Given the description of an element on the screen output the (x, y) to click on. 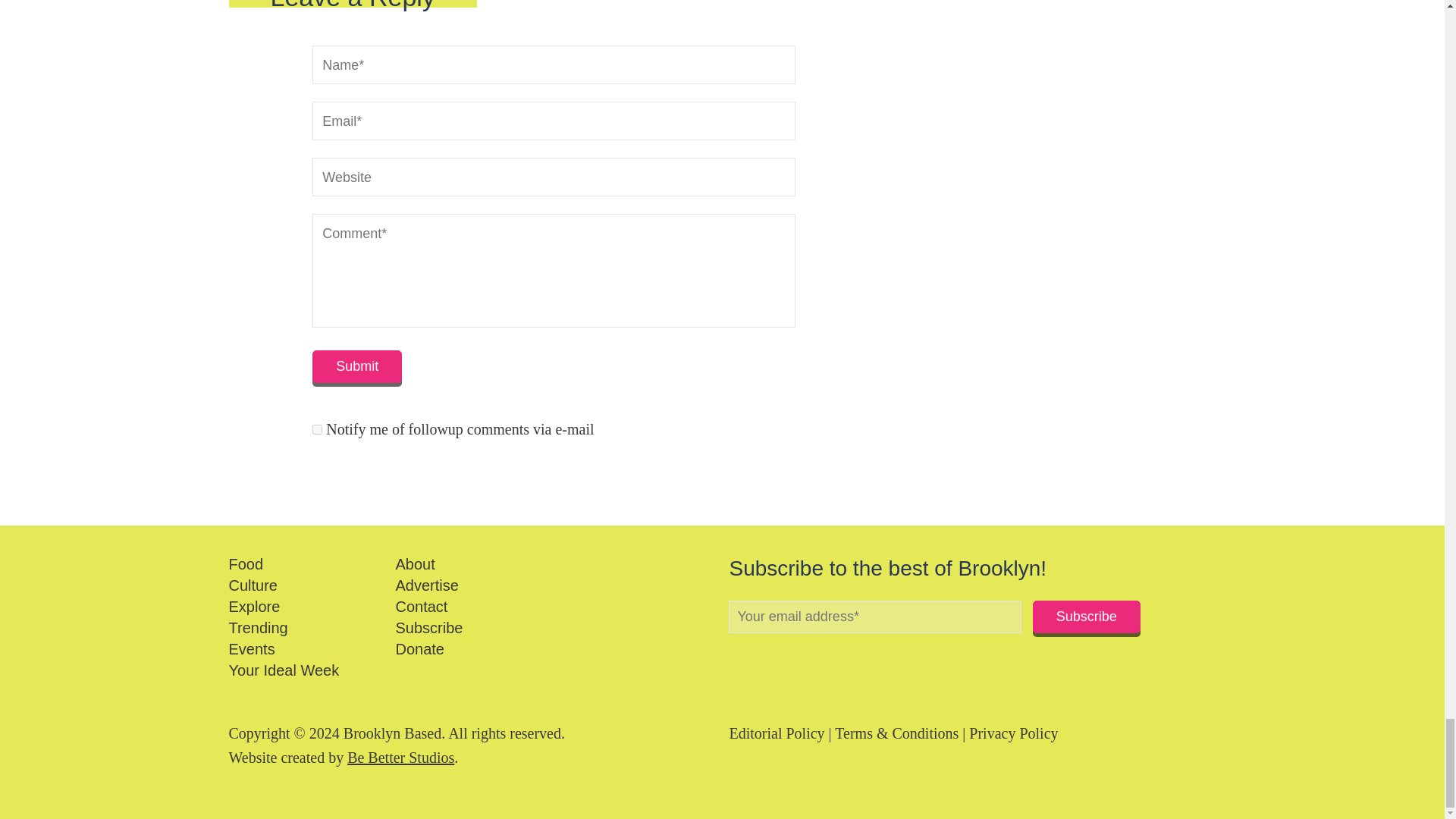
Submit (357, 366)
Follow Brooklyn Based on Twitter (759, 656)
subscribe (317, 429)
Submit (357, 366)
Subscribe (1086, 616)
Follow Brooklyn Based on Instagram (787, 656)
